Given the description of an element on the screen output the (x, y) to click on. 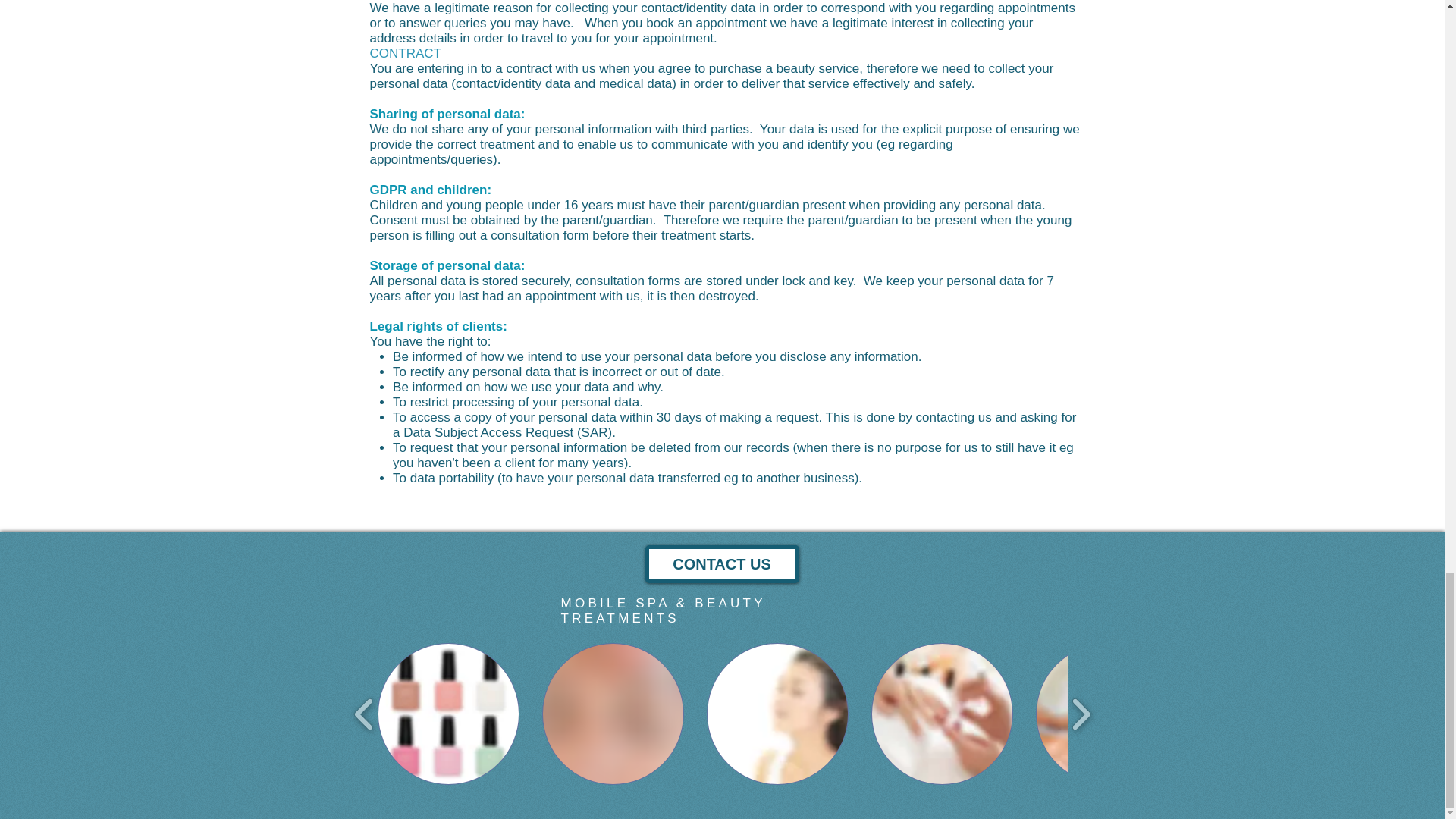
CONTACT US (721, 564)
